Given the description of an element on the screen output the (x, y) to click on. 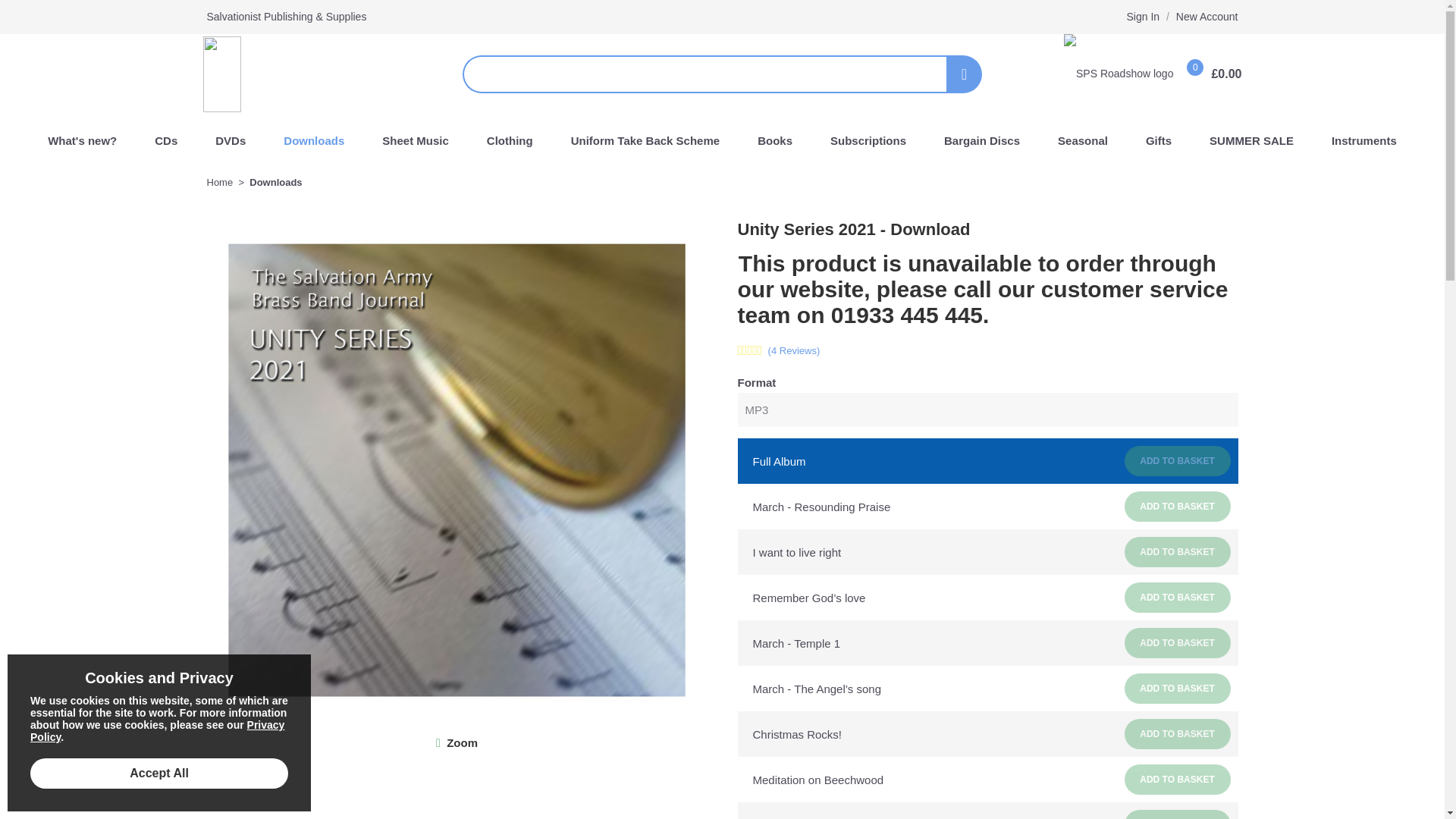
Unity Series 2021 - Download (461, 742)
ADD TO BASKET (1177, 779)
ADD TO BASKET (1177, 552)
ADD TO BASKET (1177, 734)
ADD TO BASKET (1177, 643)
ADD TO BASKET (1177, 688)
ADD TO BASKET (1177, 814)
ADD TO BASKET (1177, 506)
Go (963, 74)
